Given the description of an element on the screen output the (x, y) to click on. 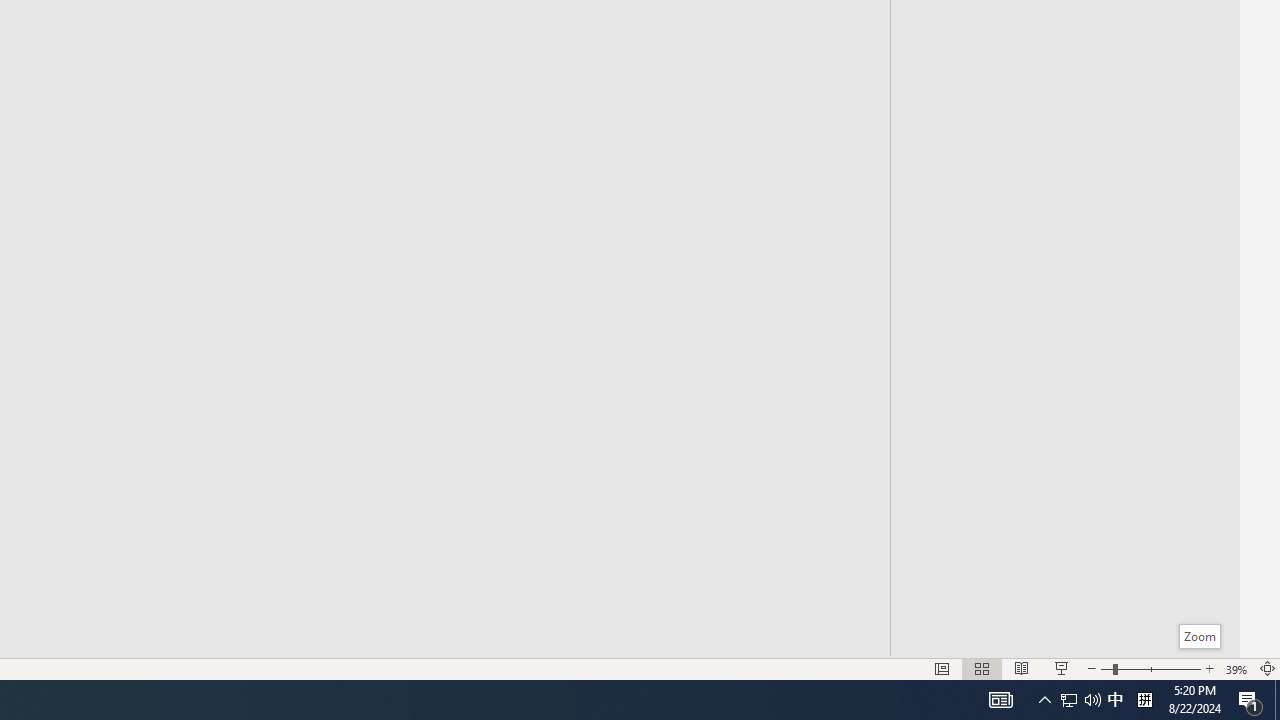
Zoom 39% (1236, 668)
